Given the description of an element on the screen output the (x, y) to click on. 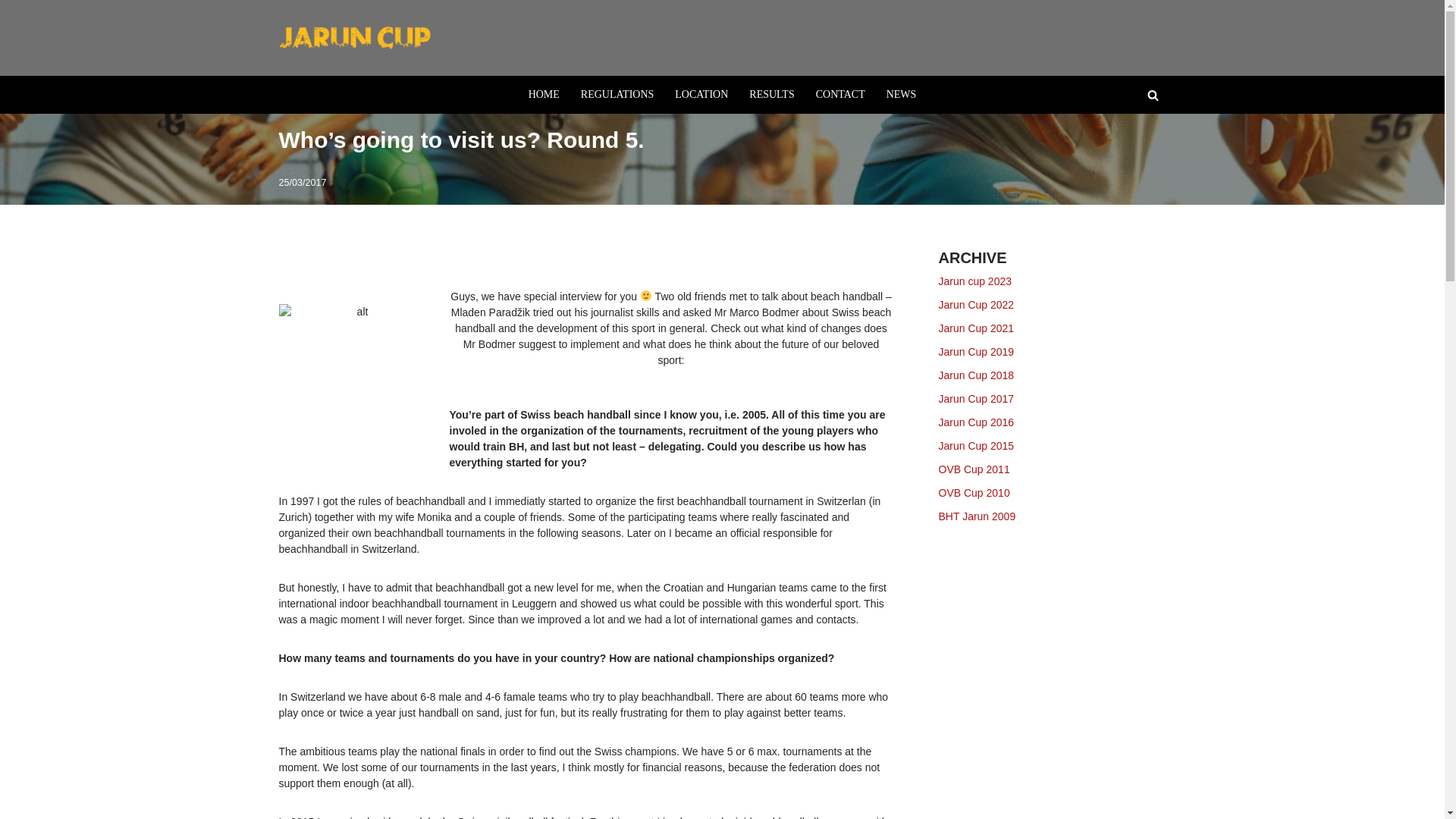
Jarun Cup 2022 (976, 304)
CONTACT (839, 94)
REGULATIONS (616, 94)
RESULTS (771, 94)
OVB Cup 2011 (974, 469)
Jarun Cup 2021 (976, 328)
Jarun Cup 2019 (976, 351)
LOCATION (701, 94)
OVB Cup 2010 (974, 492)
BHT Jarun 2009 (977, 516)
Jarun Cup 2016 (976, 422)
Jarun Cup 2018 (976, 375)
Jarun cup 2023 (975, 281)
HOME (543, 94)
Jarun Cup 2015 (976, 445)
